Given the description of an element on the screen output the (x, y) to click on. 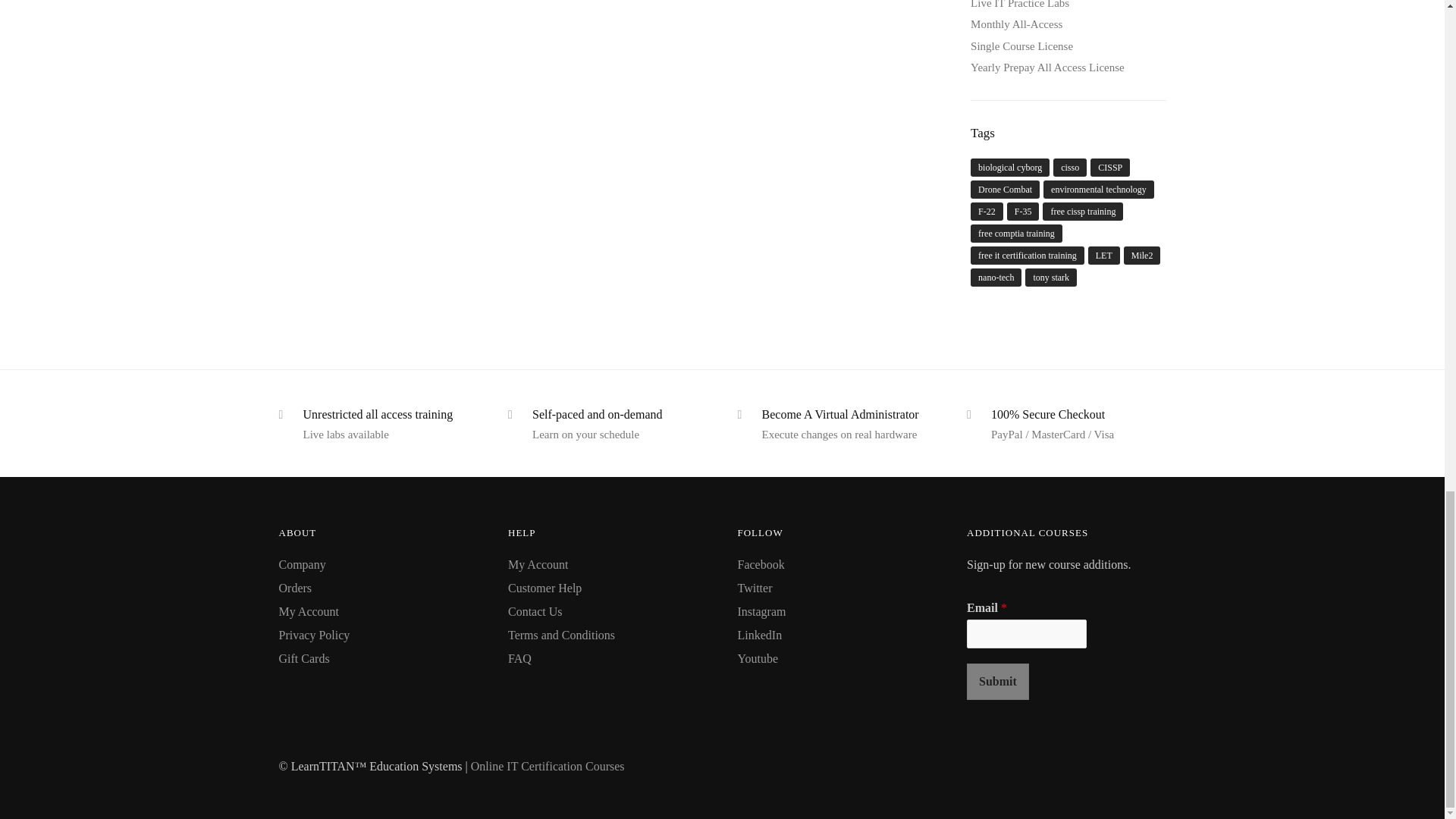
Single Course License (1022, 46)
F-35 (1023, 211)
Yearly Prepay All Access License (1047, 67)
cisso (1069, 167)
biological cyborg (1010, 167)
F-22 (987, 211)
Monthly All-Access (1016, 24)
environmental technology (1098, 189)
CISSP (1109, 167)
Drone Combat (1005, 189)
Live IT Practice Labs (1019, 4)
